Given the description of an element on the screen output the (x, y) to click on. 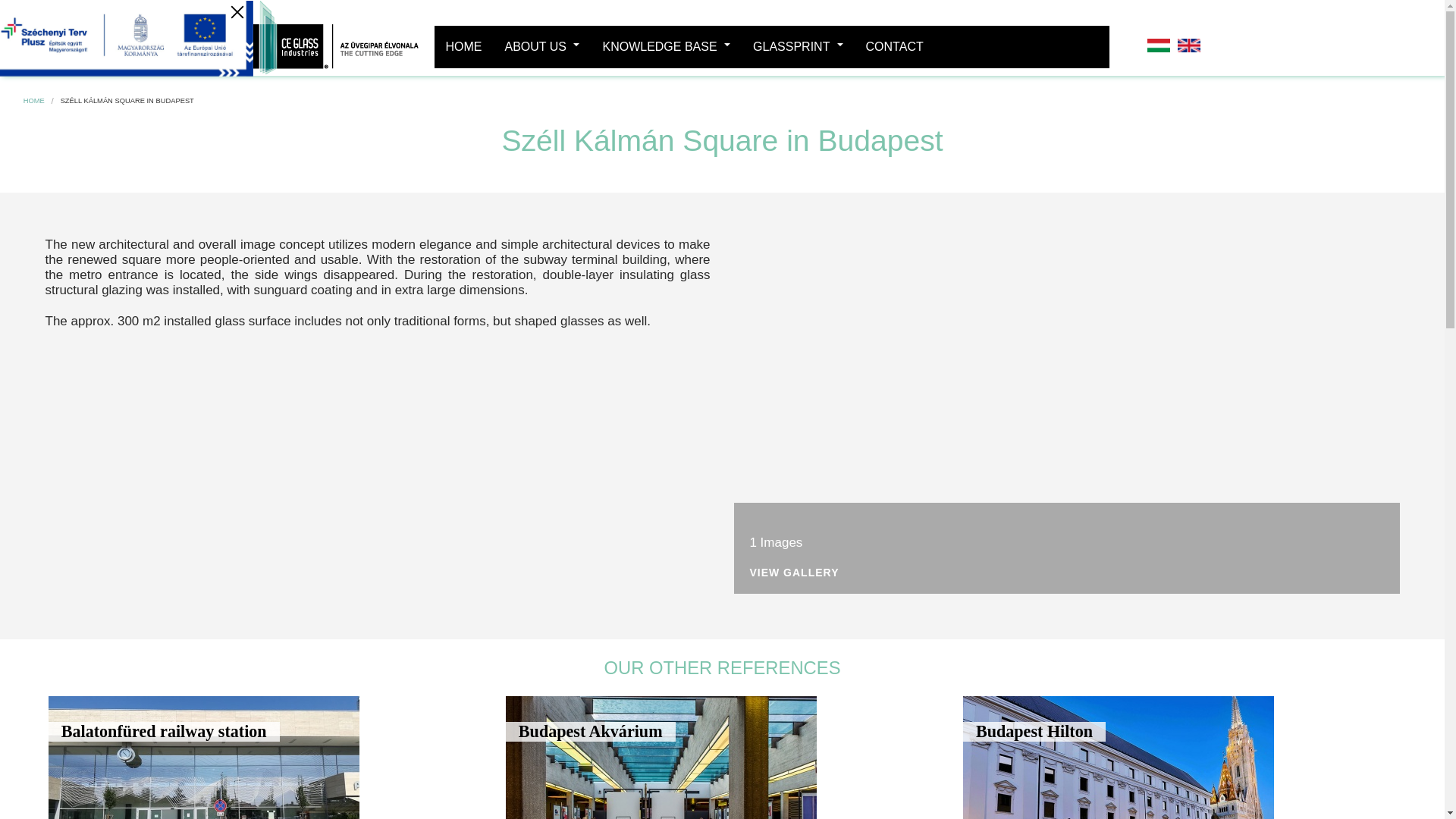
English (1187, 45)
HOME (463, 46)
Budapest Hilton CE Glass Industries reference (1118, 757)
The cutting edge (331, 38)
KNOWLEDGE BASE (666, 46)
ABOUT US (542, 46)
Magyar (1158, 45)
